Given the description of an element on the screen output the (x, y) to click on. 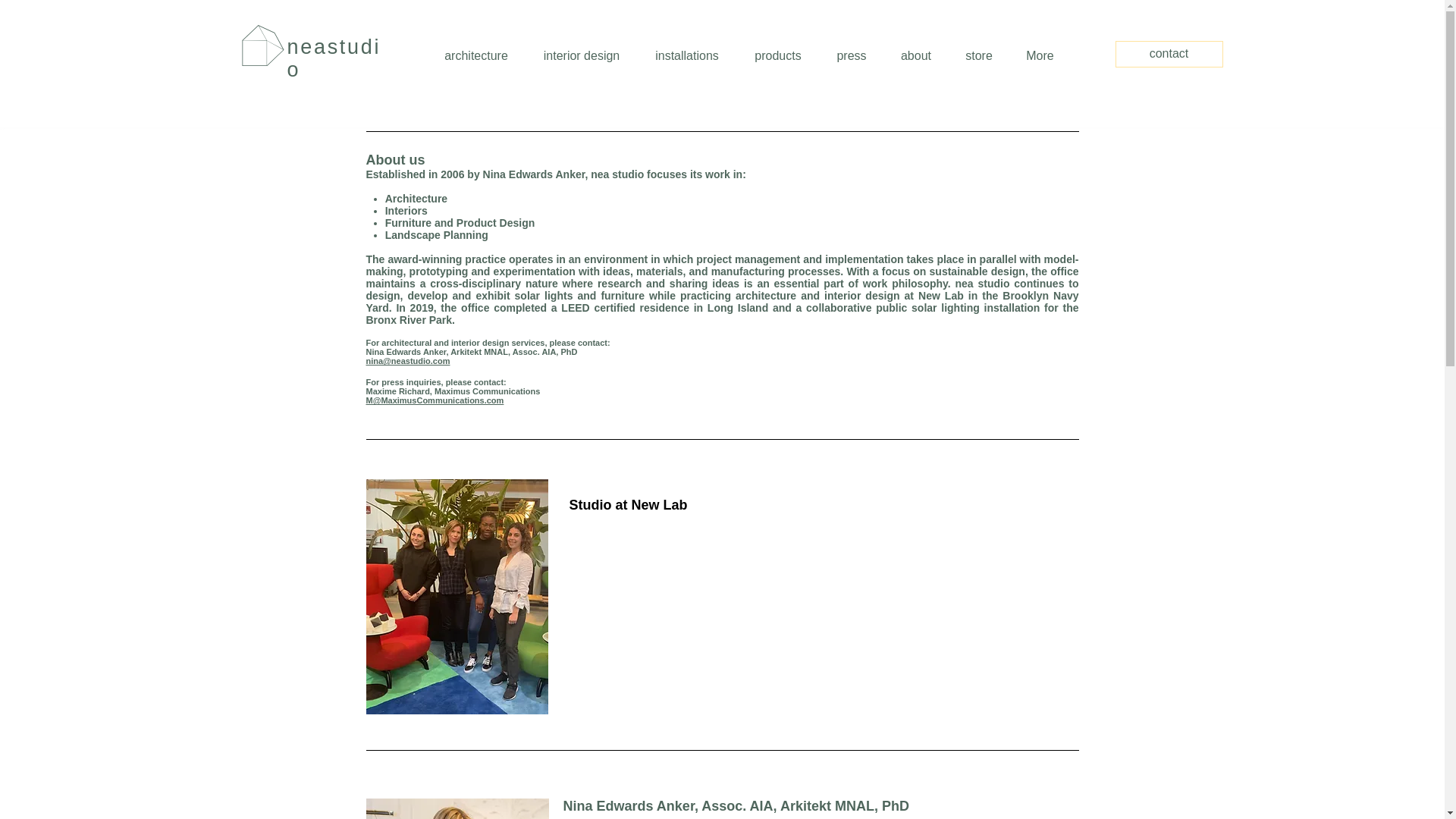
neastudio (333, 58)
installations (686, 56)
architecture (475, 56)
interior design (581, 56)
